Given the description of an element on the screen output the (x, y) to click on. 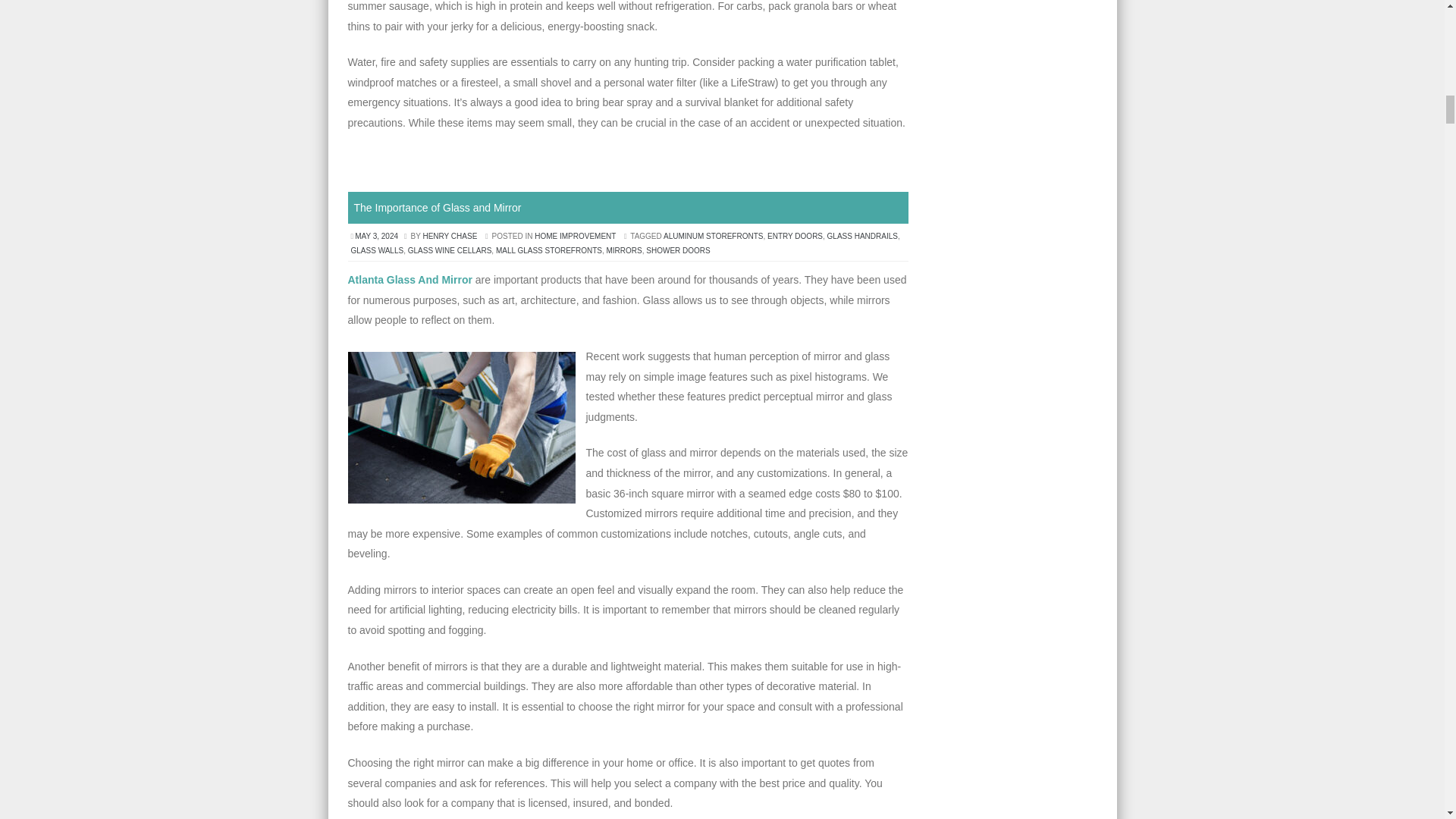
6:37 am (377, 235)
ALUMINUM STOREFRONTS (712, 235)
The Importance of Glass and Mirror (437, 207)
GLASS WINE CELLARS (449, 250)
SHOWER DOORS (678, 250)
Permalink to The Importance of Glass and Mirror (437, 207)
View all posts by Henry Chase (449, 235)
HENRY CHASE (449, 235)
MALL GLASS STOREFRONTS (549, 250)
MIRRORS (624, 250)
ENTRY DOORS (794, 235)
HOME IMPROVEMENT (574, 235)
GLASS HANDRAILS (862, 235)
GLASS WALLS (376, 250)
Atlanta Glass And Mirror (409, 279)
